Given the description of an element on the screen output the (x, y) to click on. 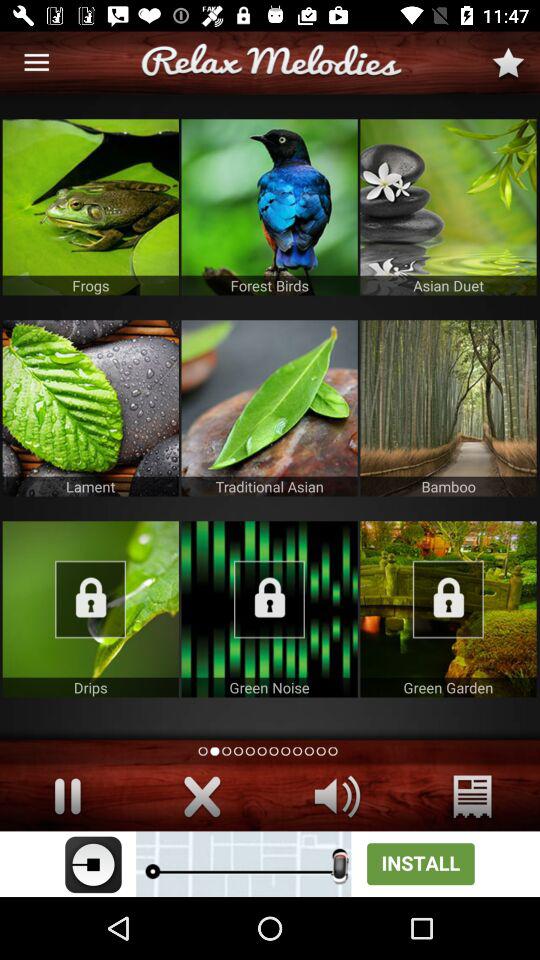
adjust your volume (337, 796)
